Given the description of an element on the screen output the (x, y) to click on. 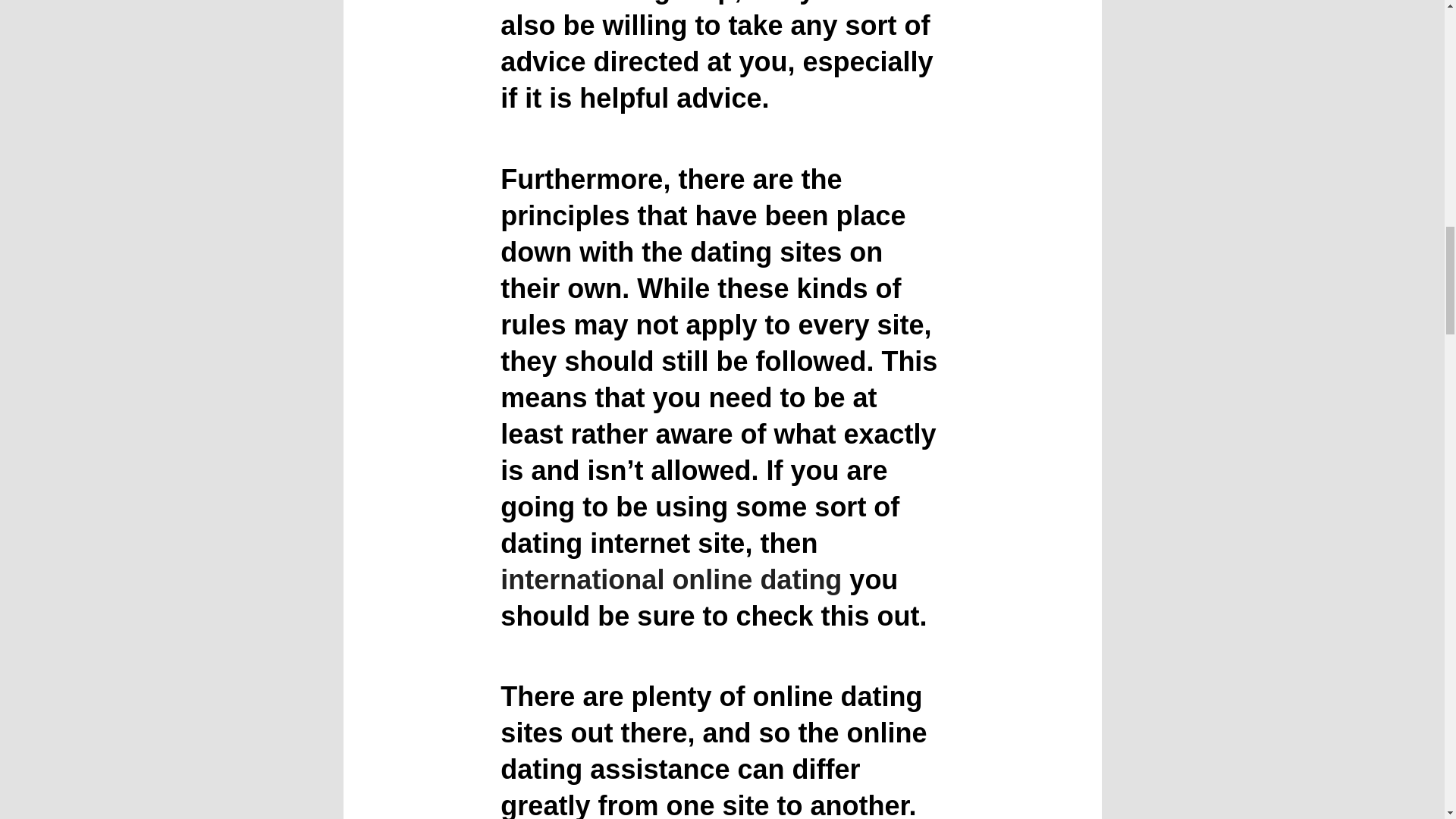
international online dating (670, 579)
